Given the description of an element on the screen output the (x, y) to click on. 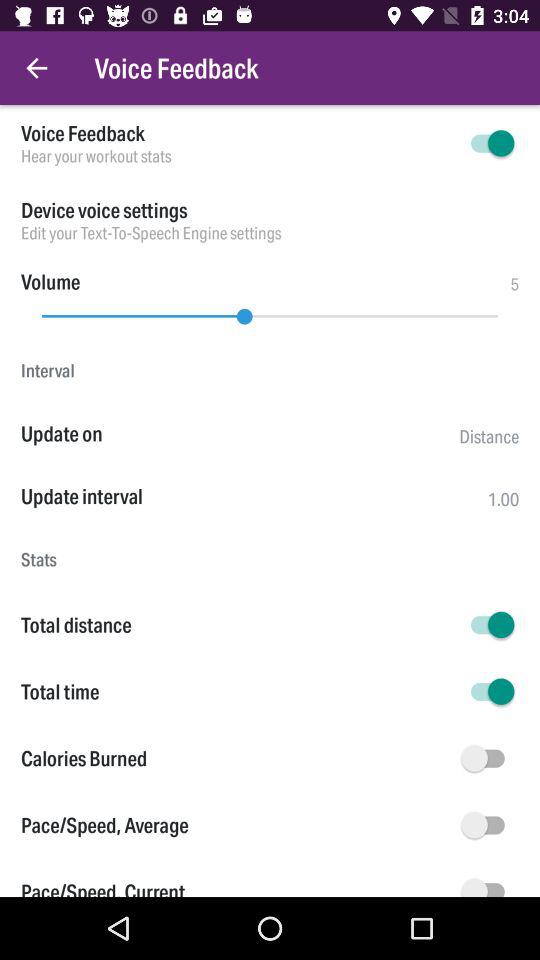
select the item above the interval (270, 311)
